Given the description of an element on the screen output the (x, y) to click on. 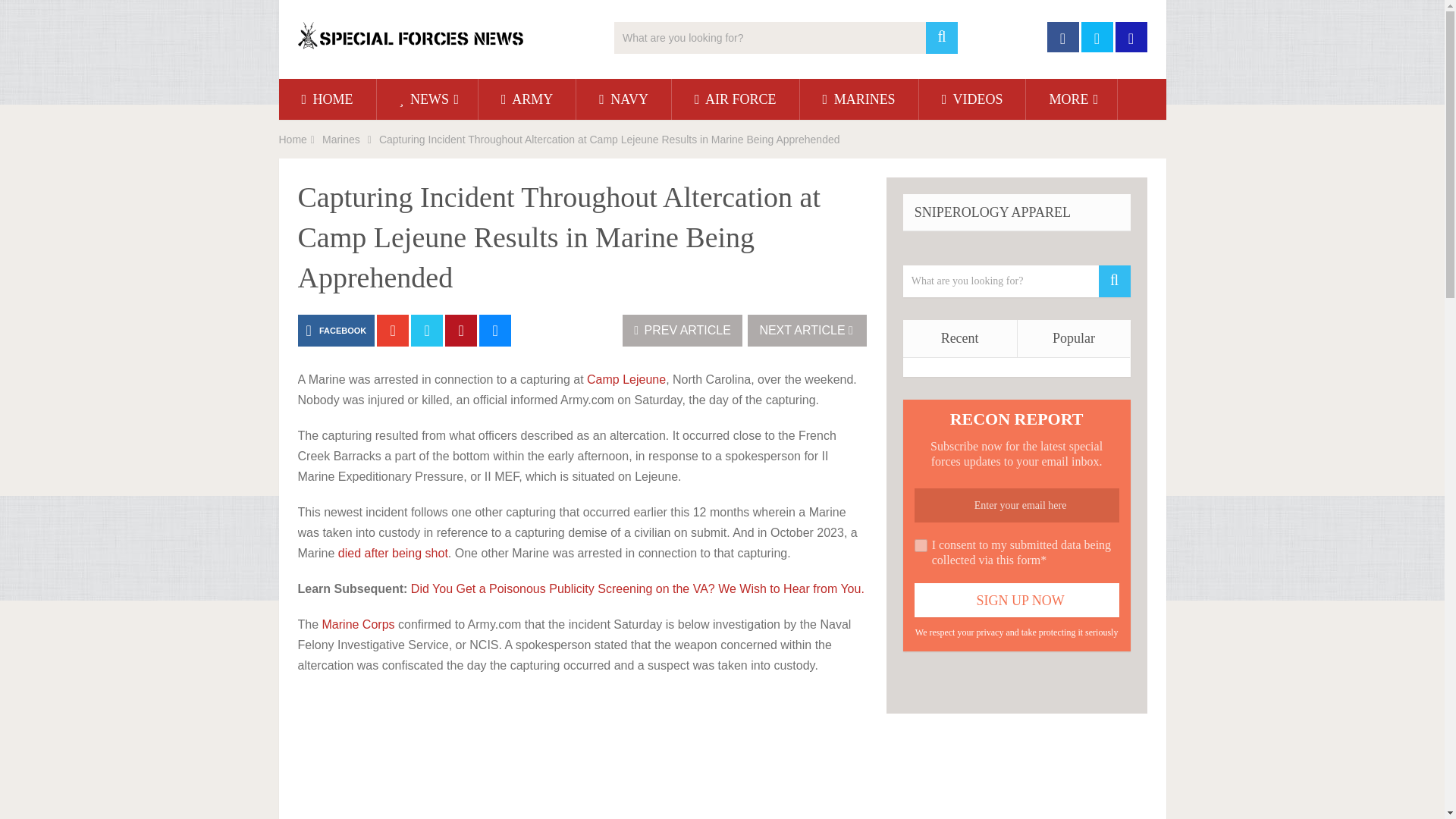
ARMY (527, 98)
Marine Corps (357, 624)
Home (293, 139)
Camp Lejeune (625, 379)
Marines (340, 139)
FACEBOOK (335, 330)
MORE (1071, 98)
AIR FORCE (735, 98)
NEWS (428, 98)
NEXT ARTICLE (807, 330)
Sign Up Now (1016, 600)
PREV ARTICLE (682, 330)
VIDEOS (972, 98)
NAVY (623, 98)
